Given the description of an element on the screen output the (x, y) to click on. 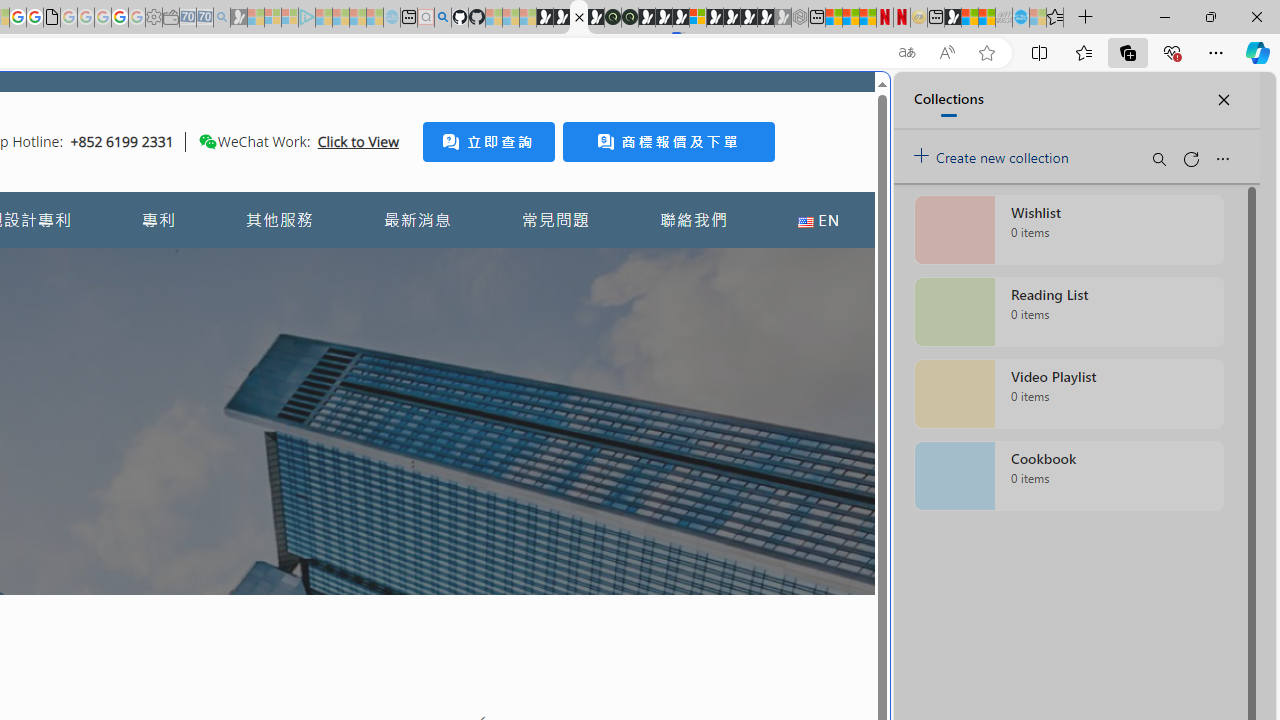
Close split screen (844, 102)
EN (818, 220)
